Given the description of an element on the screen output the (x, y) to click on. 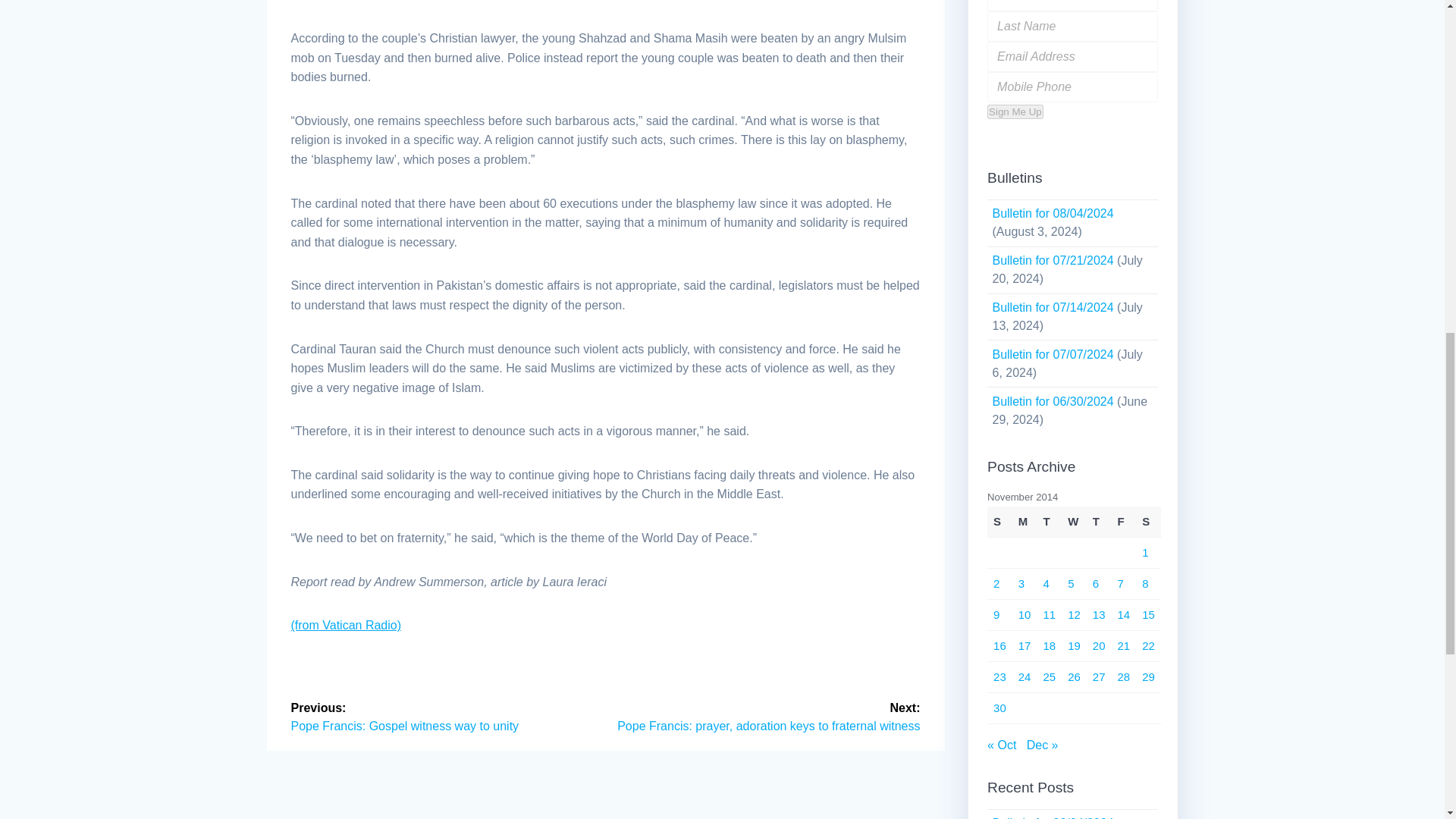
Sign Me Up (1015, 111)
